Given the description of an element on the screen output the (x, y) to click on. 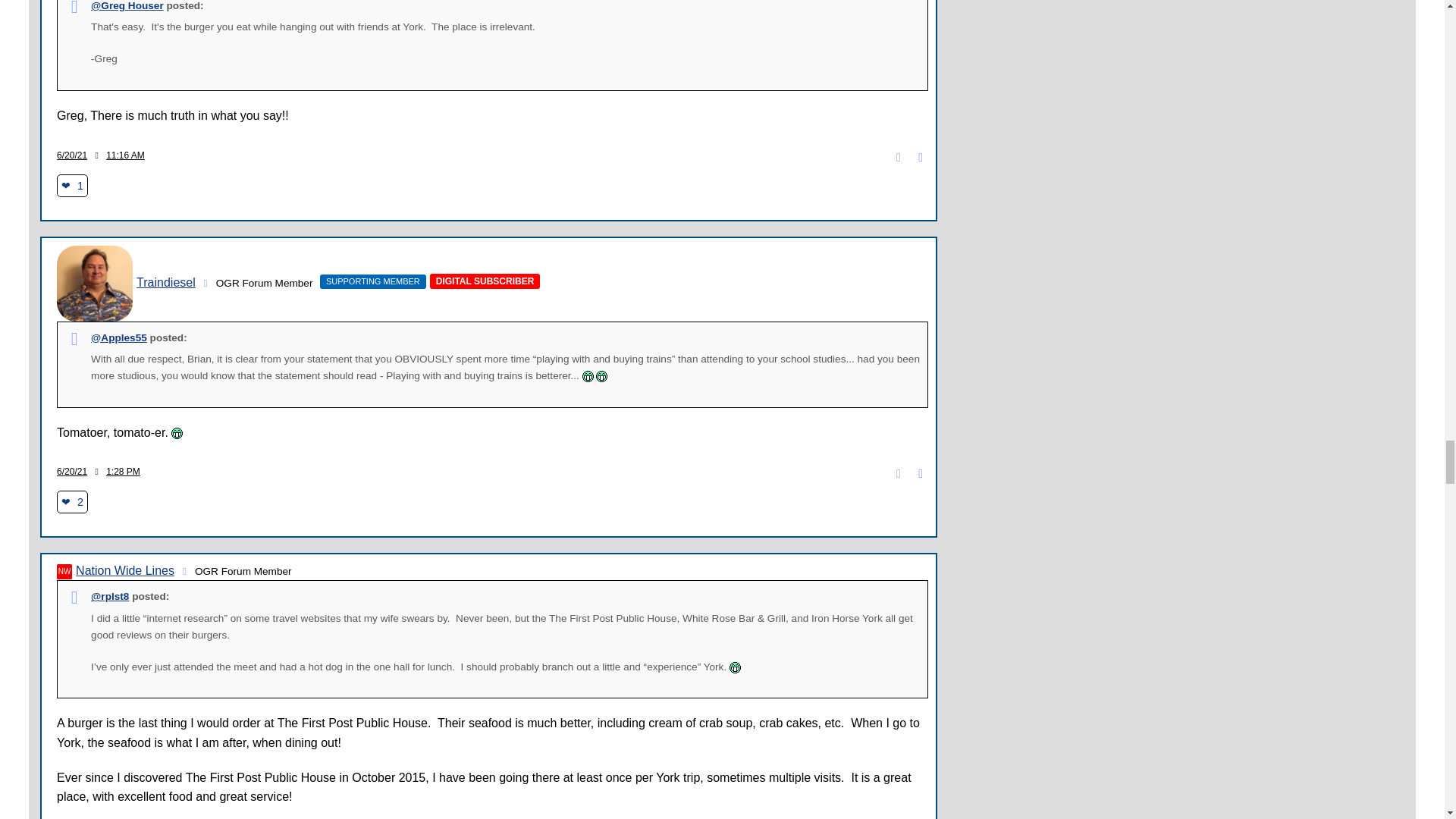
NW (63, 571)
